Given the description of an element on the screen output the (x, y) to click on. 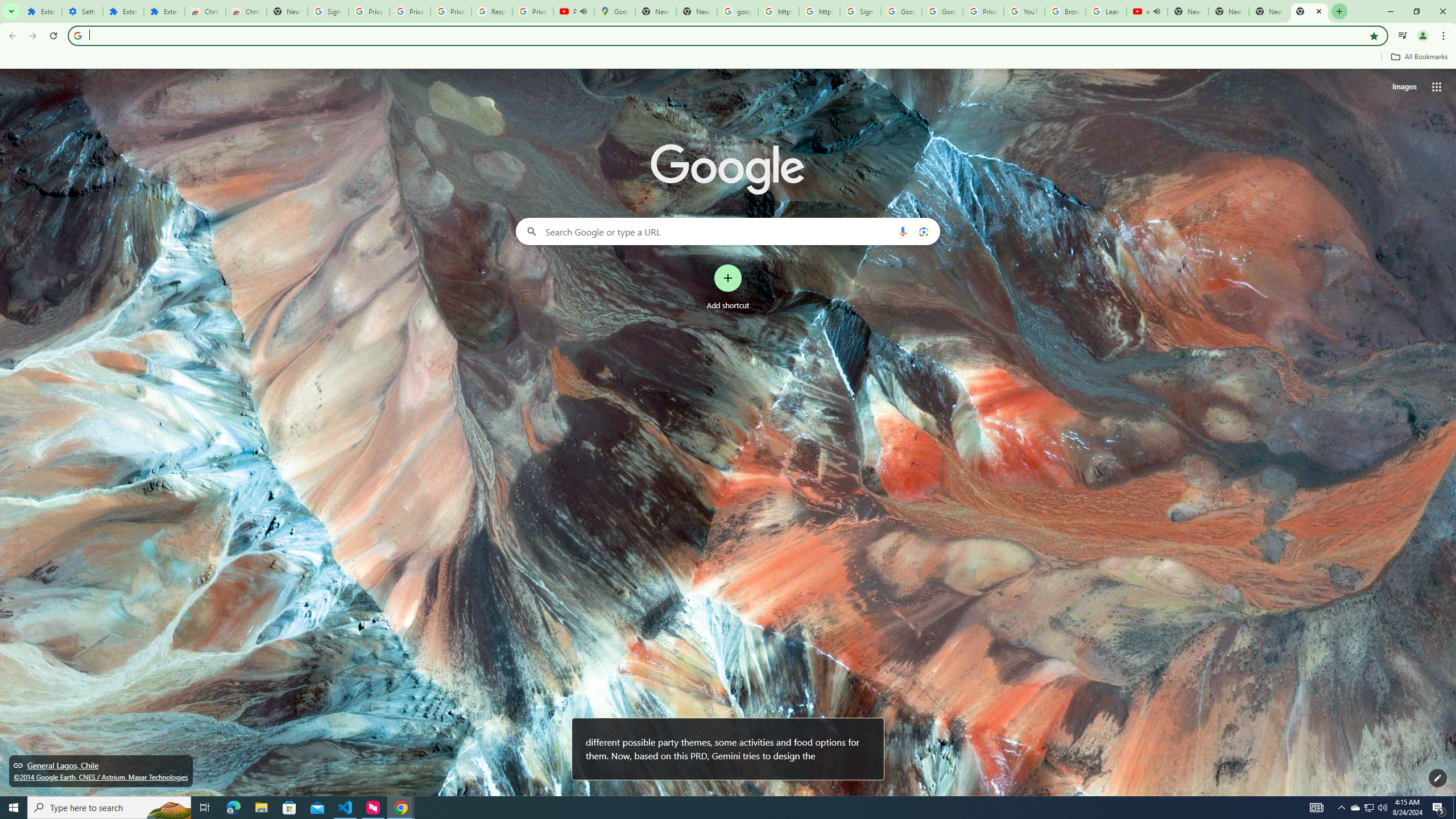
New Tab (1309, 11)
https://scholar.google.com/ (777, 11)
Sign in - Google Accounts (860, 11)
Search Google or type a URL (727, 230)
New Tab (287, 11)
